Given the description of an element on the screen output the (x, y) to click on. 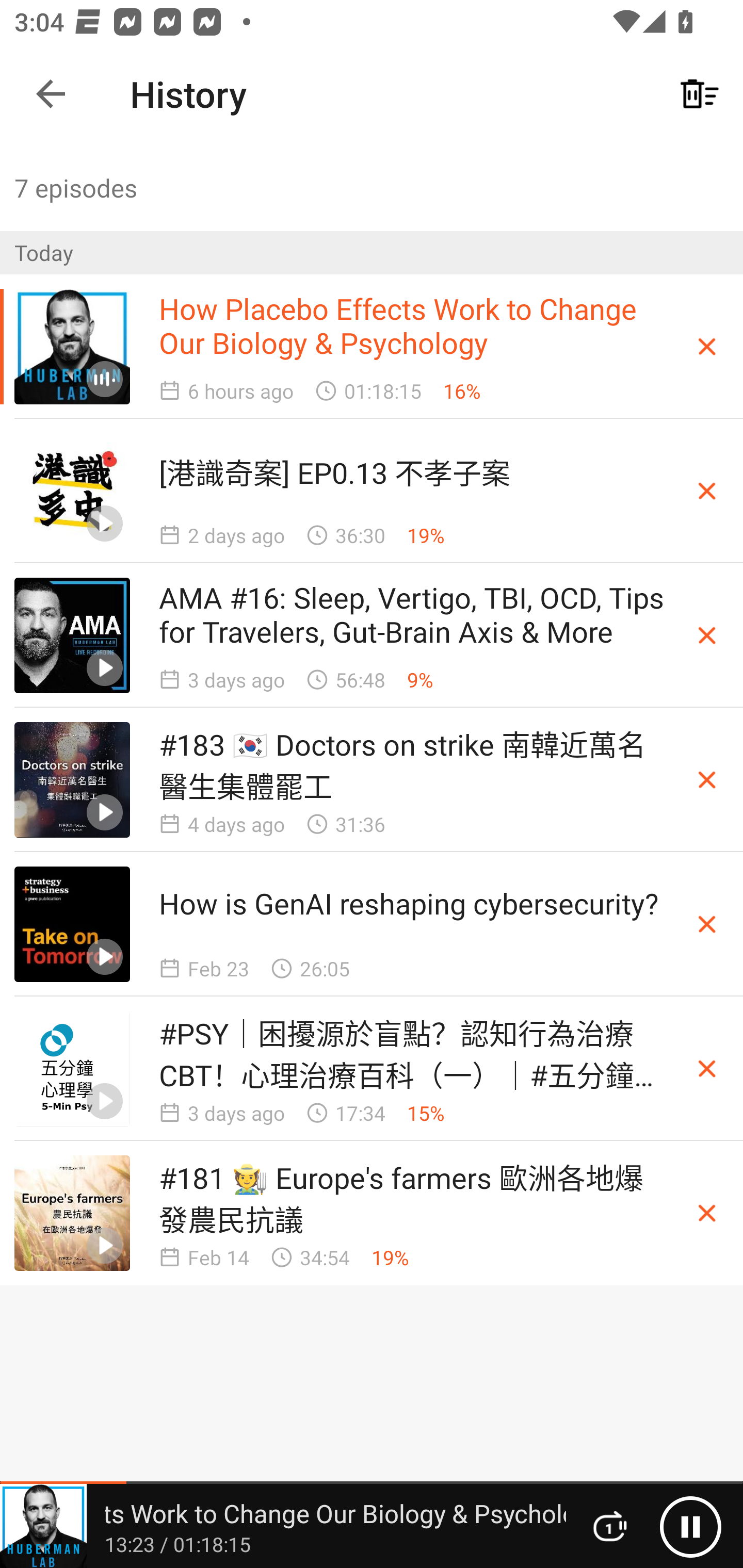
Navigate up (50, 93)
Clear (699, 93)
Delete (706, 346)
Delete (706, 490)
Delete (706, 634)
Delete (706, 779)
Delete (706, 924)
Delete (706, 1068)
Delete (706, 1213)
Pause (690, 1526)
